Given the description of an element on the screen output the (x, y) to click on. 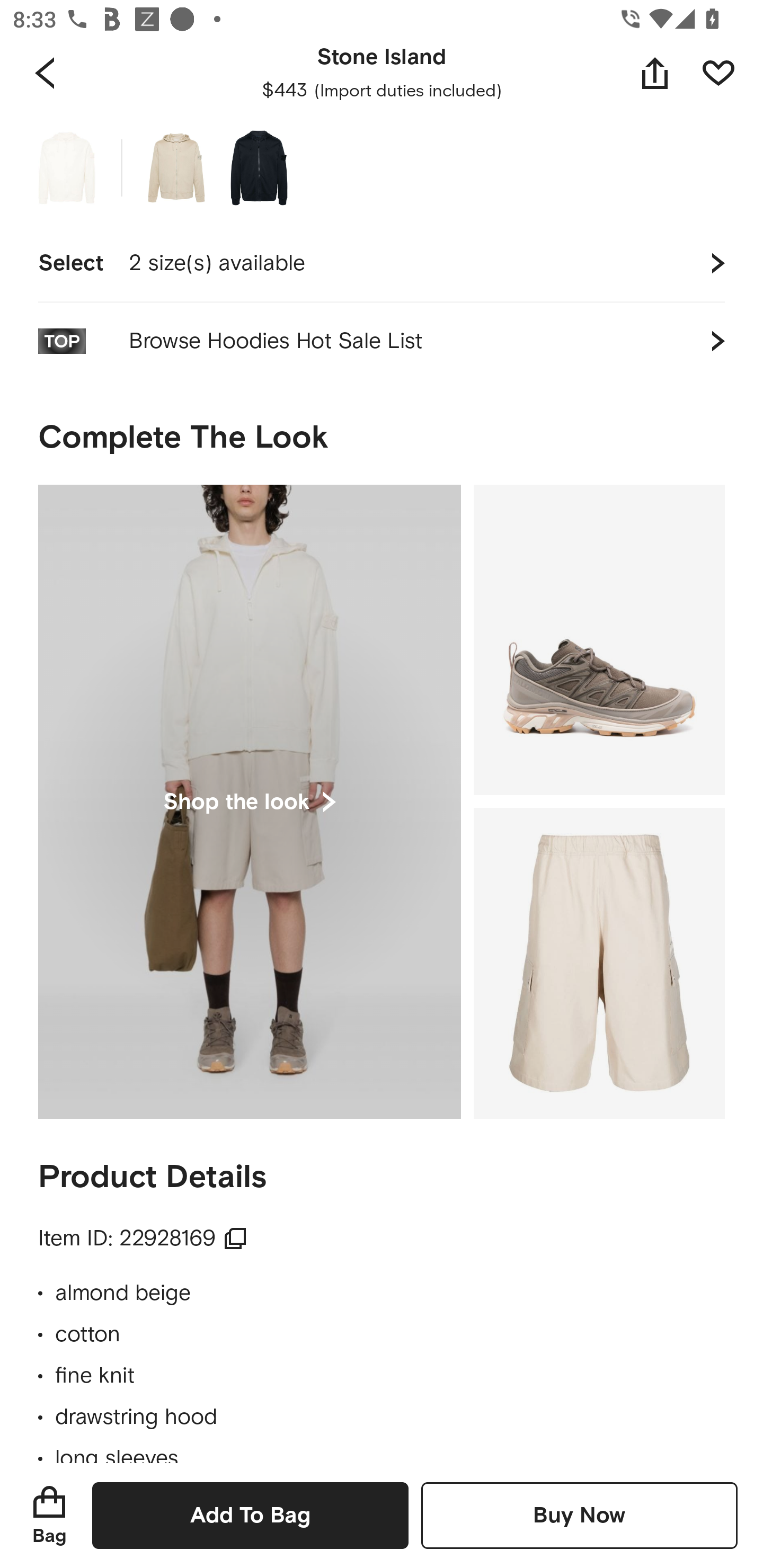
Select 2 size(s) available (381, 263)
Browse Hoodies Hot Sale List (381, 340)
Item ID: 22928169 (142, 1238)
Bag (49, 1515)
Add To Bag (250, 1515)
Buy Now (579, 1515)
